Given the description of an element on the screen output the (x, y) to click on. 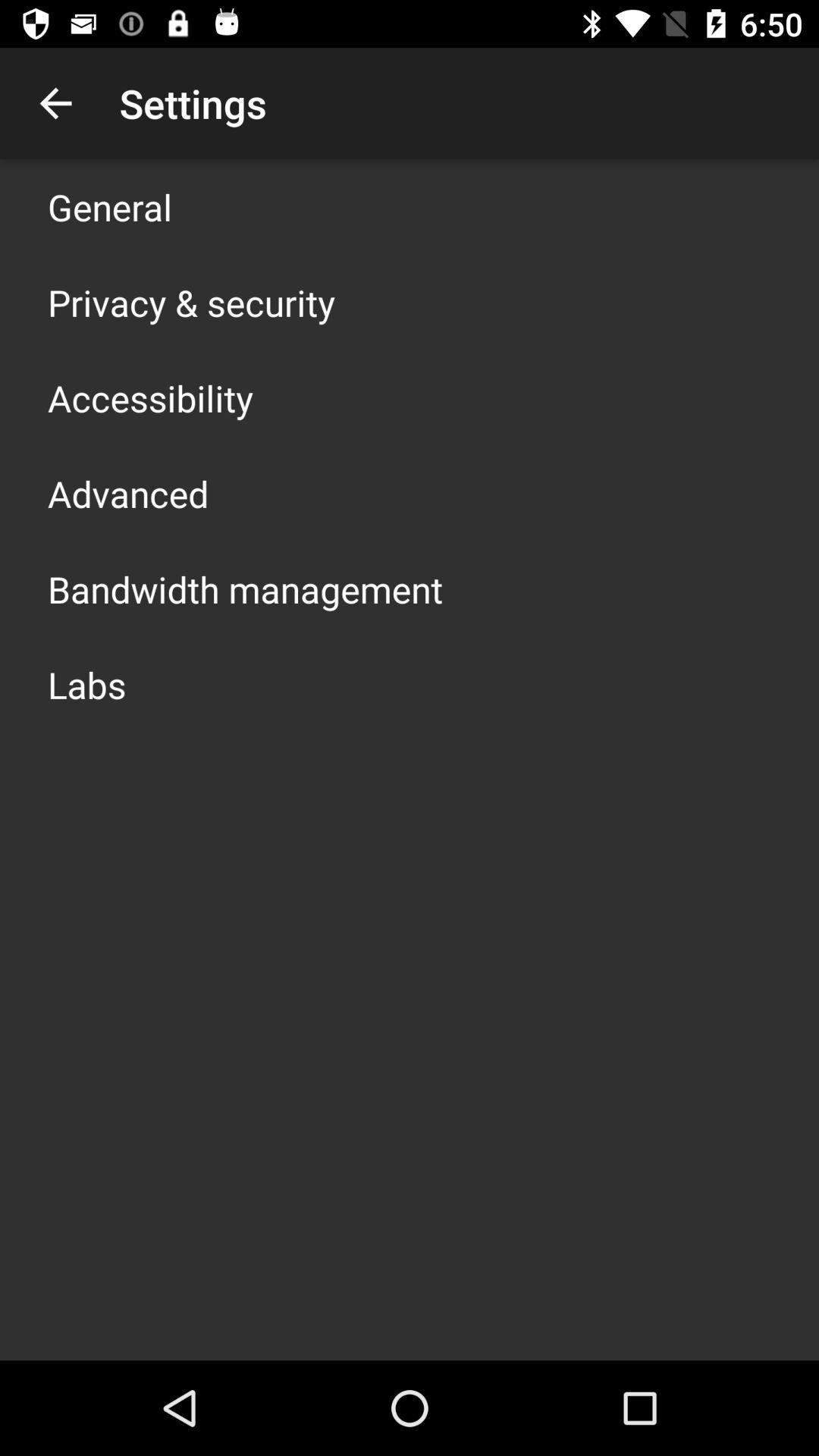
select labs icon (86, 684)
